Given the description of an element on the screen output the (x, y) to click on. 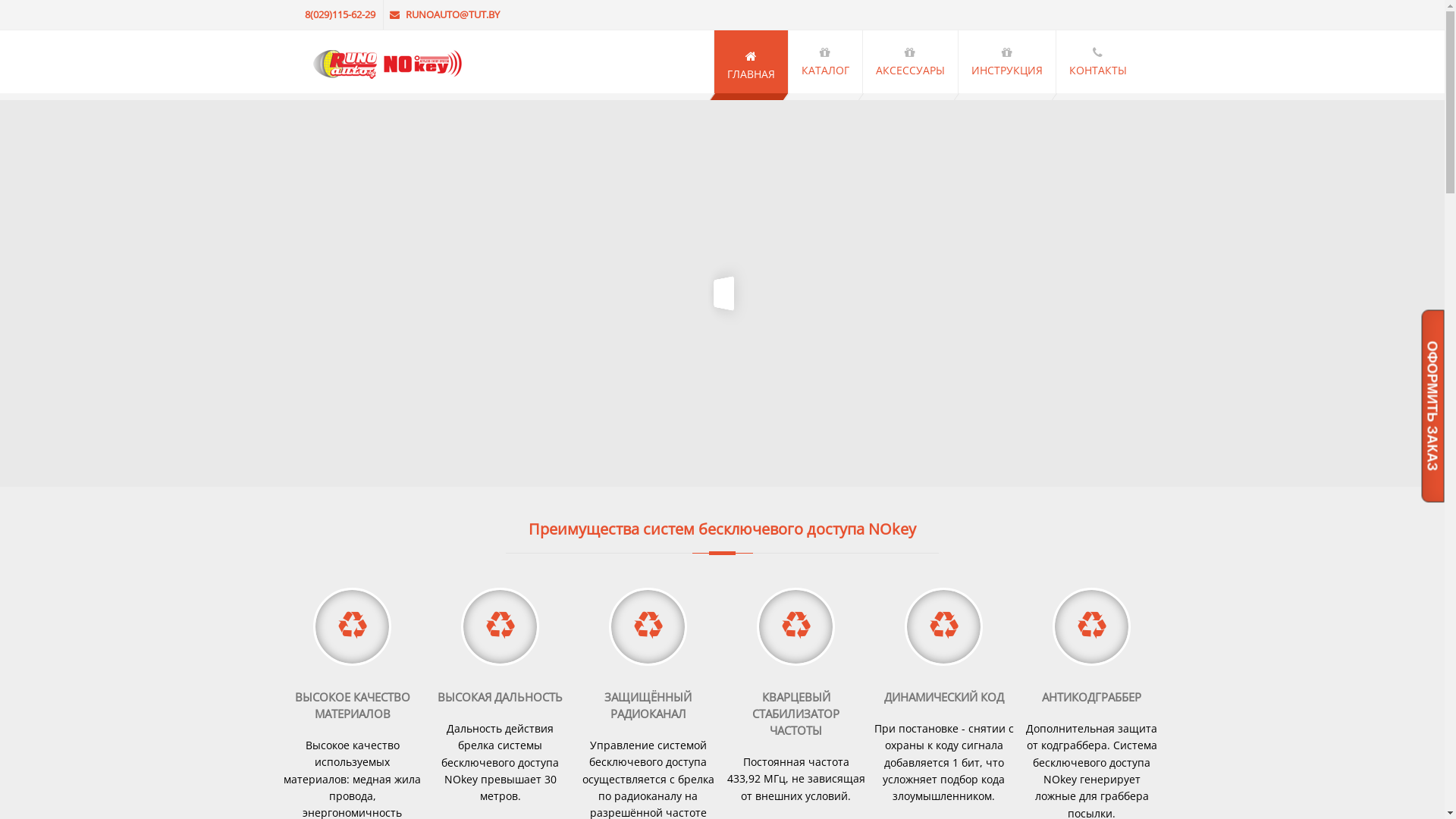
RUNOAUTO@TUT.BY Element type: text (445, 14)
8(029)115-62-29 Element type: text (341, 14)
